Given the description of an element on the screen output the (x, y) to click on. 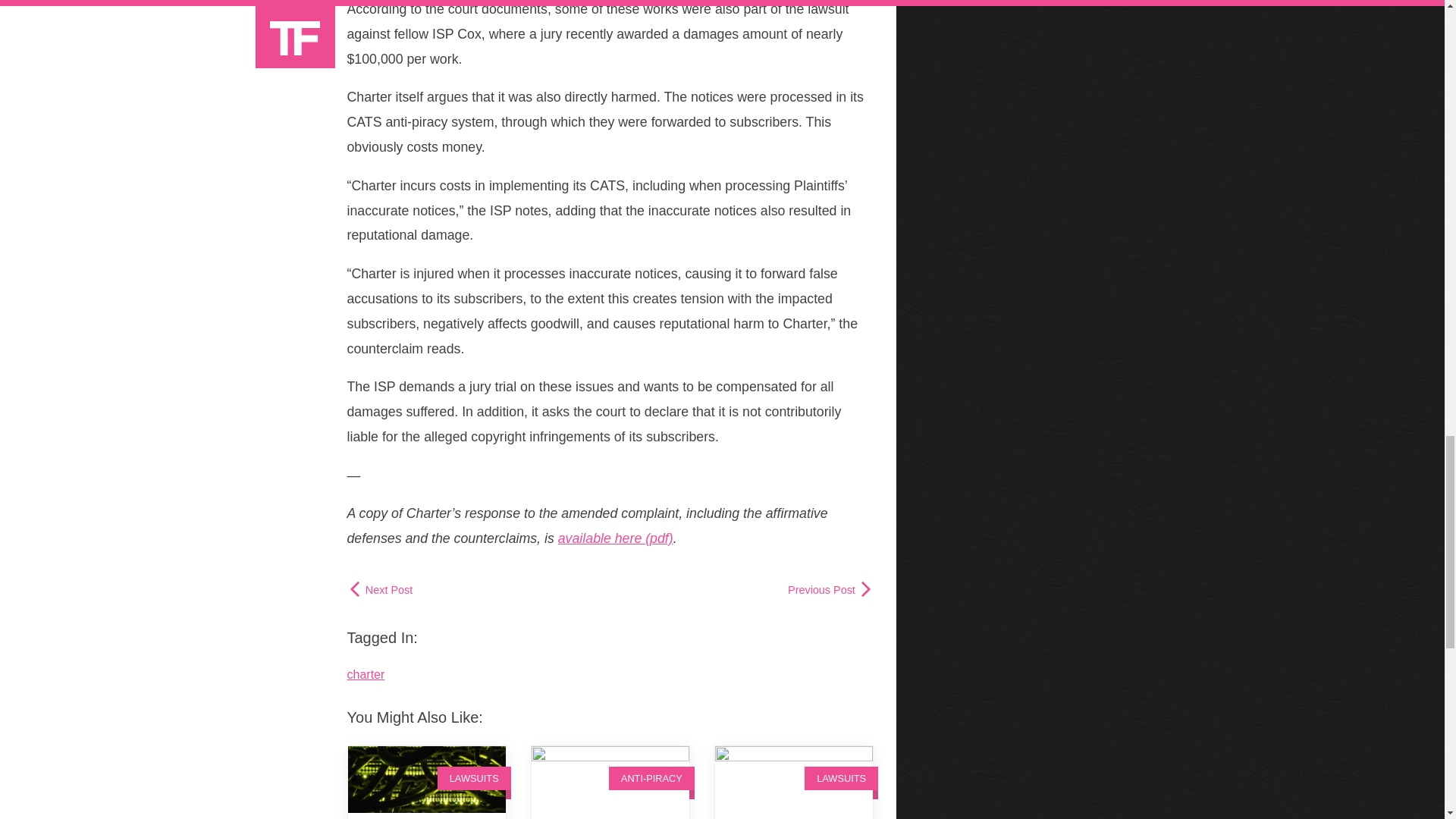
Previous Post (830, 589)
Next Post (380, 589)
charter (366, 674)
